Given the description of an element on the screen output the (x, y) to click on. 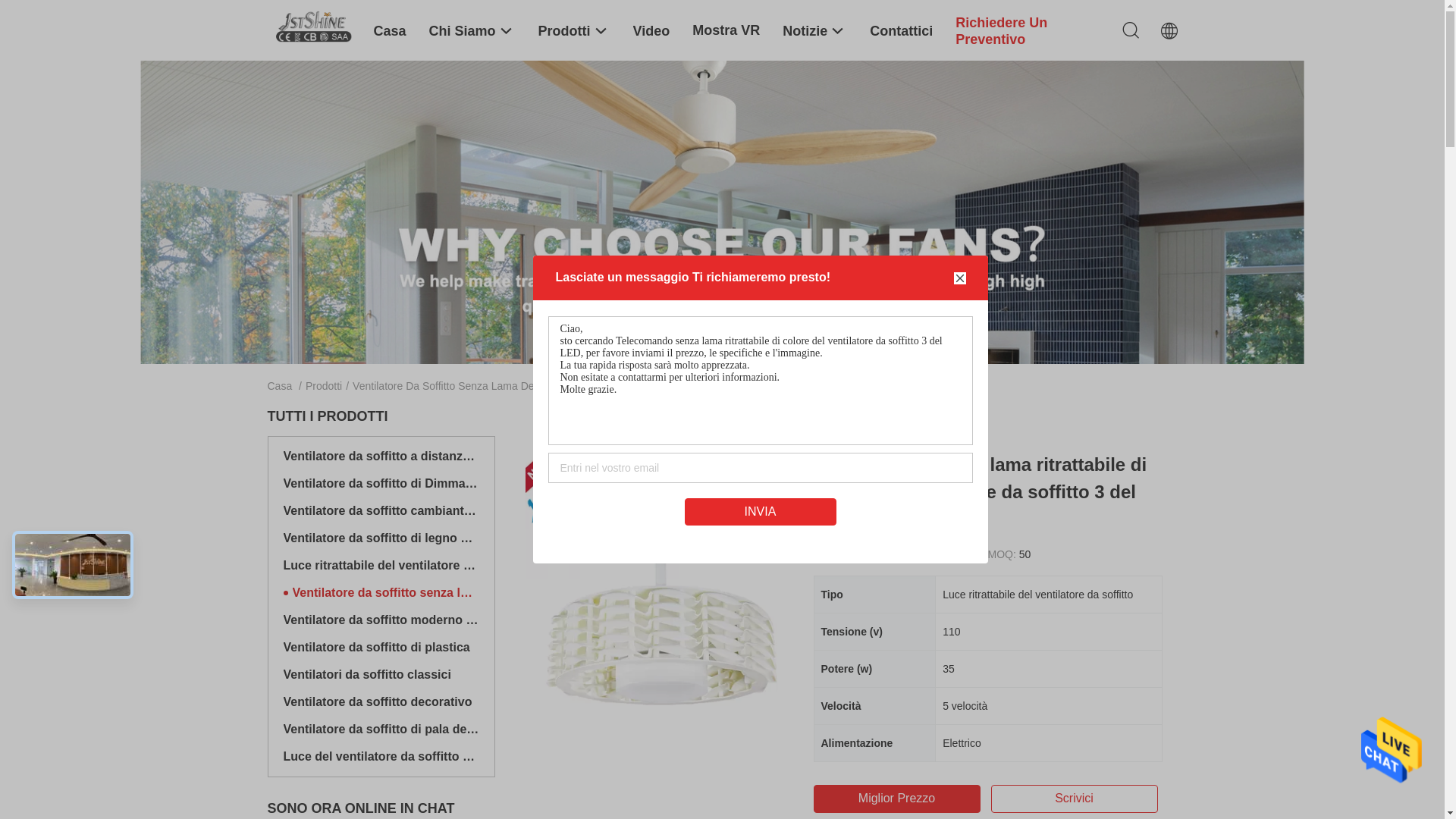
Chi Siamo Element type: text (472, 30)
Ventilatori da soffitto classici Element type: text (381, 674)
Casa Element type: text (278, 385)
Ventilatore da soffitto di Dimmable LED Element type: text (381, 483)
Prodotti Element type: text (574, 30)
Ventilatore da soffitto di legno solido Element type: text (381, 538)
Prodotti Element type: text (323, 385)
Miglior Prezzo Element type: text (895, 798)
Mostra VR Element type: text (725, 30)
Ventilatore da soffitto senza lama del LED Element type: text (385, 592)
Ventilatore da soffitto cambiante di colore Element type: text (381, 510)
Ventilatore da soffitto a distanza del LED Element type: text (381, 456)
Video Element type: text (651, 30)
Notizie Element type: text (814, 30)
Luce ritrattabile del ventilatore da soffitto Element type: text (381, 565)
Ventilatore da soffitto di plastica Element type: text (381, 647)
Richiedere Un Preventivo Element type: text (1024, 30)
Ventilatore da soffitto decorativo Element type: text (381, 701)
Contattici Element type: text (900, 30)
Ventilatore da soffitto moderno del LED Element type: text (381, 619)
Casa Element type: text (389, 30)
Ventilatore da soffitto di pala del metallo Element type: text (381, 729)
Scrivici Element type: text (1073, 798)
Luce del ventilatore da soffitto della camera da letto Element type: text (381, 756)
